Given the description of an element on the screen output the (x, y) to click on. 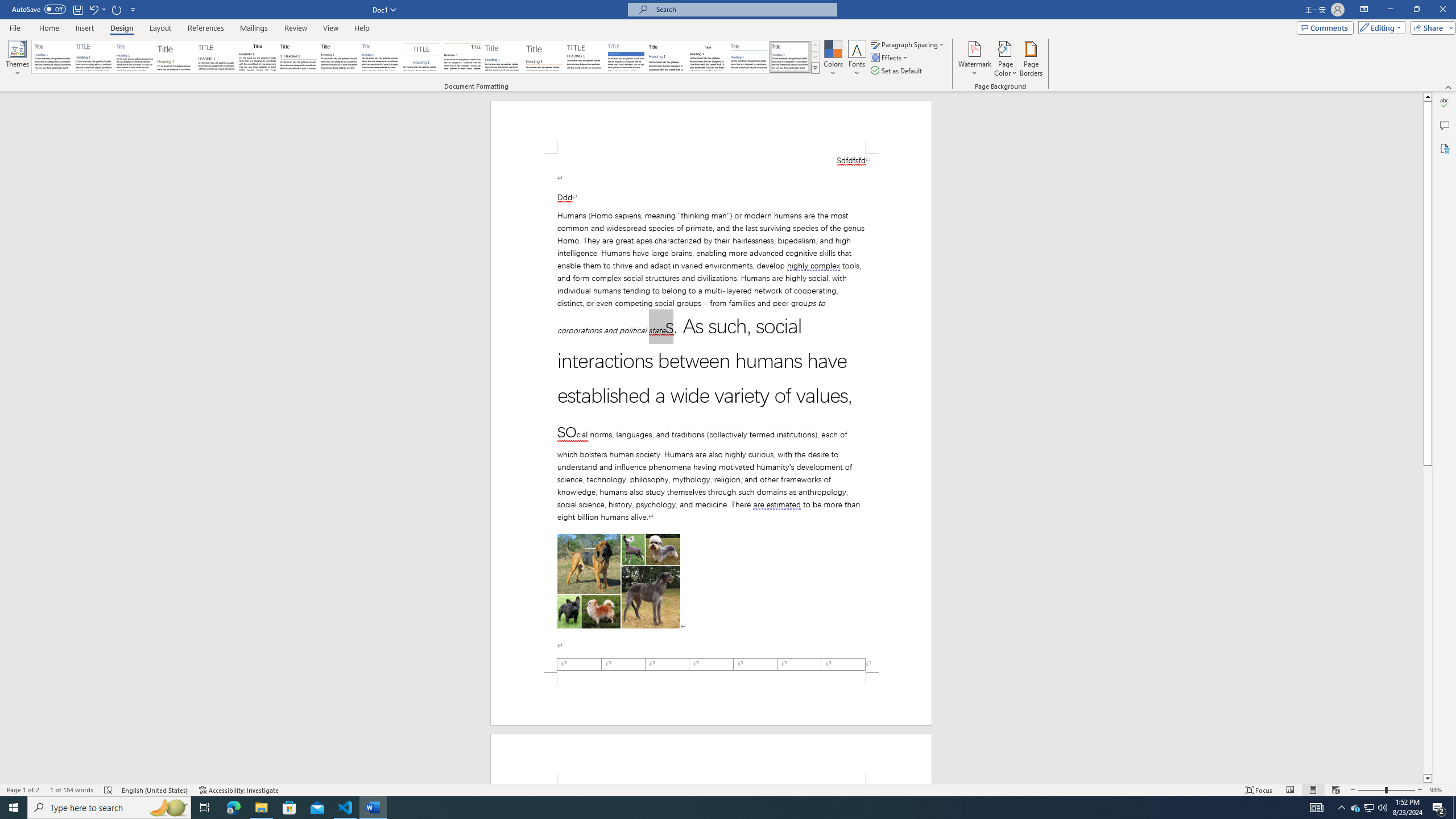
Editing (1379, 27)
Shaded (625, 56)
Row up (814, 45)
Style Set (814, 67)
Zoom (1386, 790)
Page Number Page 1 of 2 (22, 790)
Basic (Stylish) (175, 56)
More Options (103, 9)
Set as Default (897, 69)
Black & White (Word 2013) (338, 56)
Comments (1325, 27)
Insert (83, 28)
AutomationID: QuickStylesSets (425, 56)
Review (295, 28)
References (205, 28)
